Given the description of an element on the screen output the (x, y) to click on. 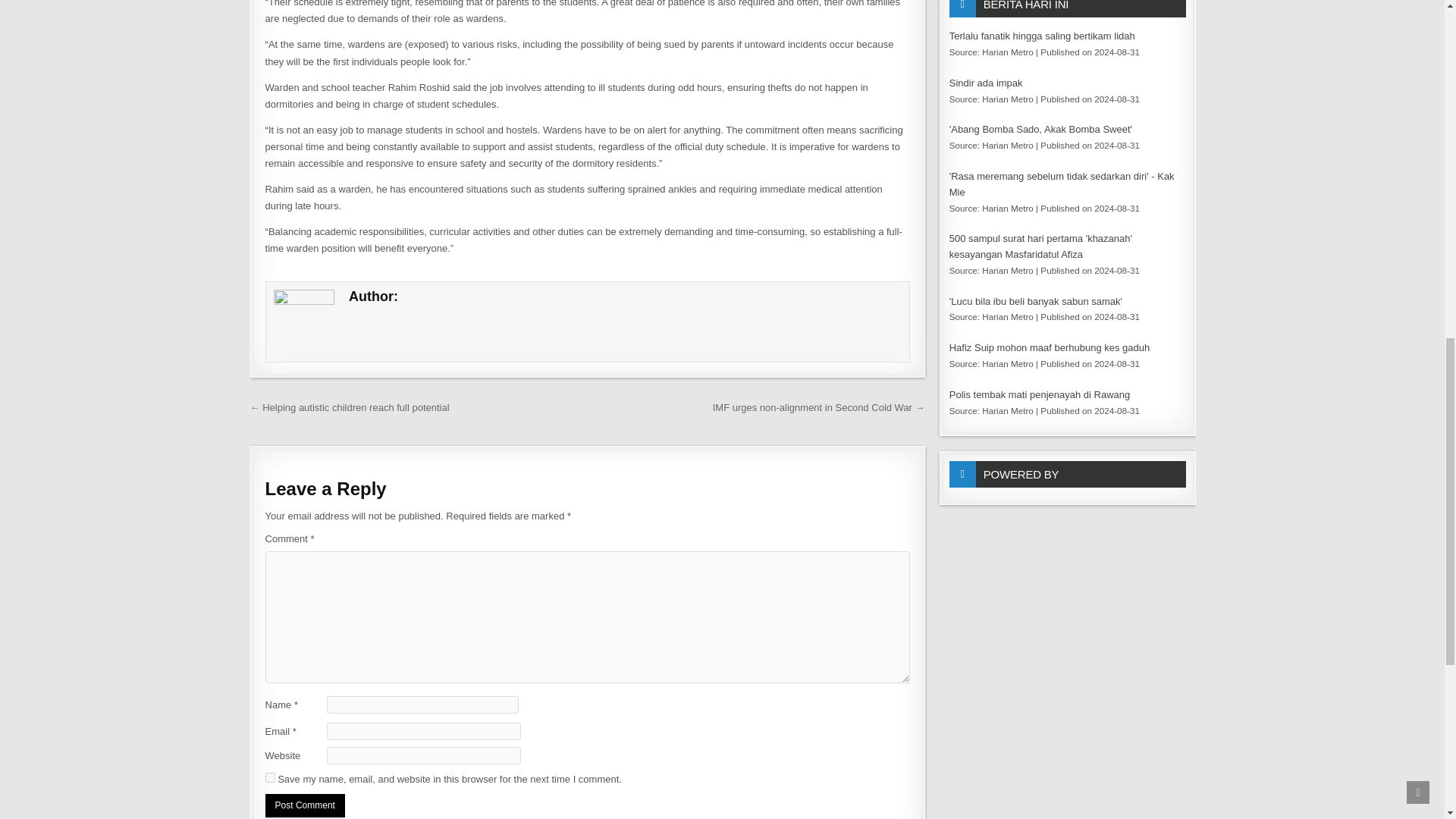
Post Comment (304, 805)
yes (269, 777)
Post Comment (304, 805)
